Given the description of an element on the screen output the (x, y) to click on. 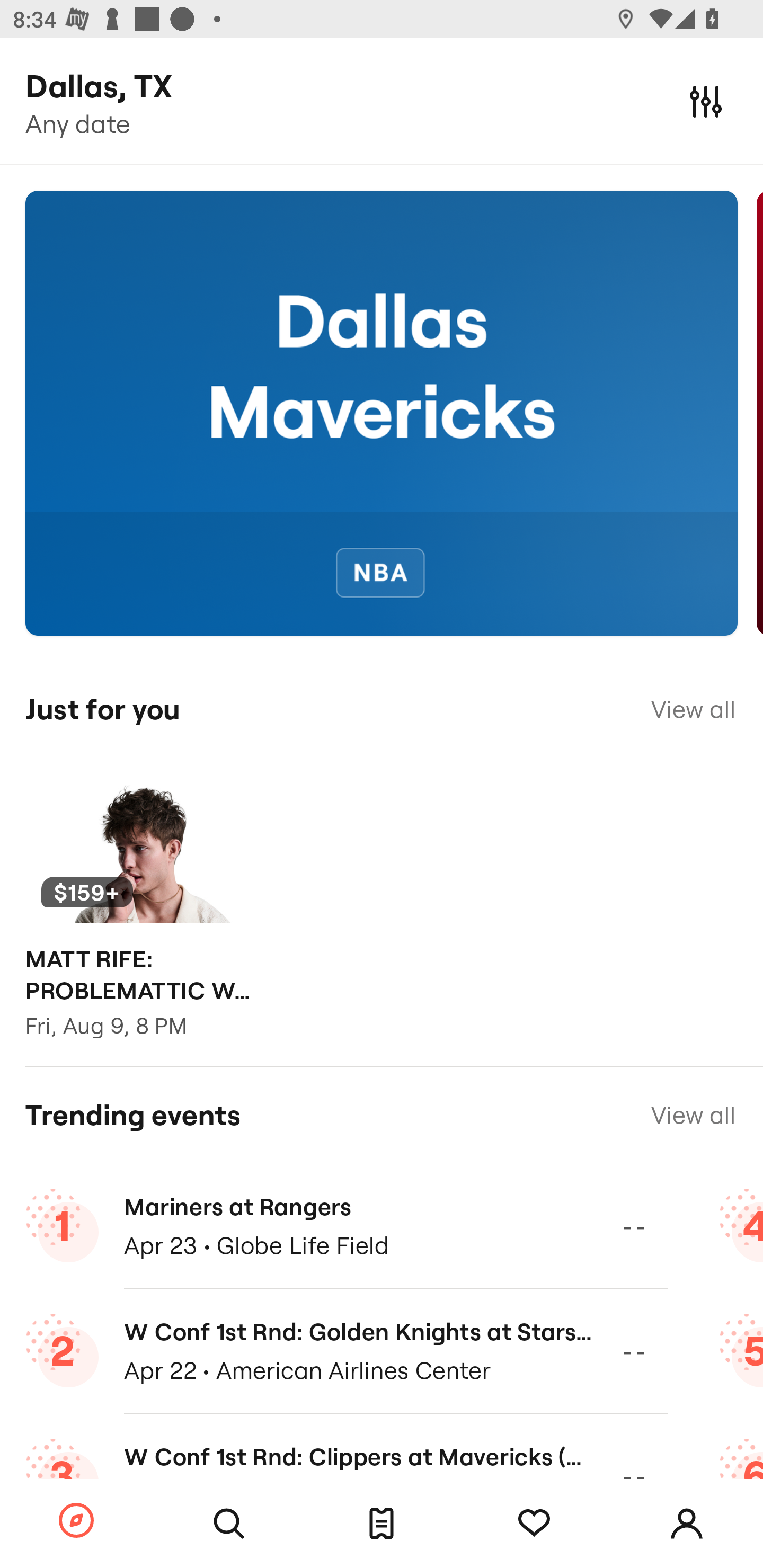
Filters (705, 100)
View all (693, 709)
View all (693, 1114)
Browse (76, 1521)
Search (228, 1523)
Tickets (381, 1523)
Tracking (533, 1523)
Account (686, 1523)
